Given the description of an element on the screen output the (x, y) to click on. 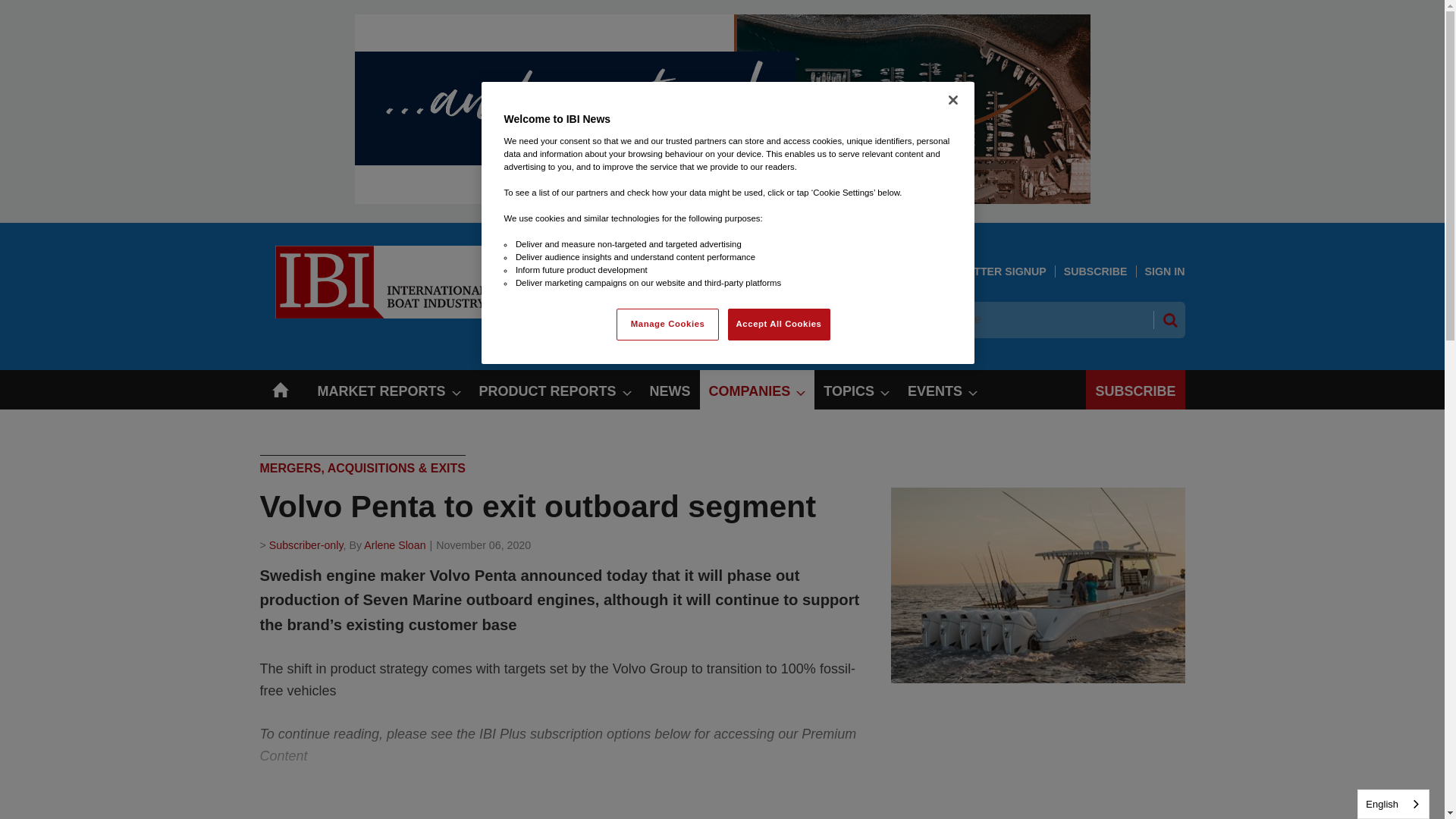
NEWSLETTER SIGNUP (986, 271)
SEARCH (1168, 319)
International Boat Industry - IBI News (372, 314)
SIGN IN (1164, 271)
SUBSCRIBE (1095, 271)
